Given the description of an element on the screen output the (x, y) to click on. 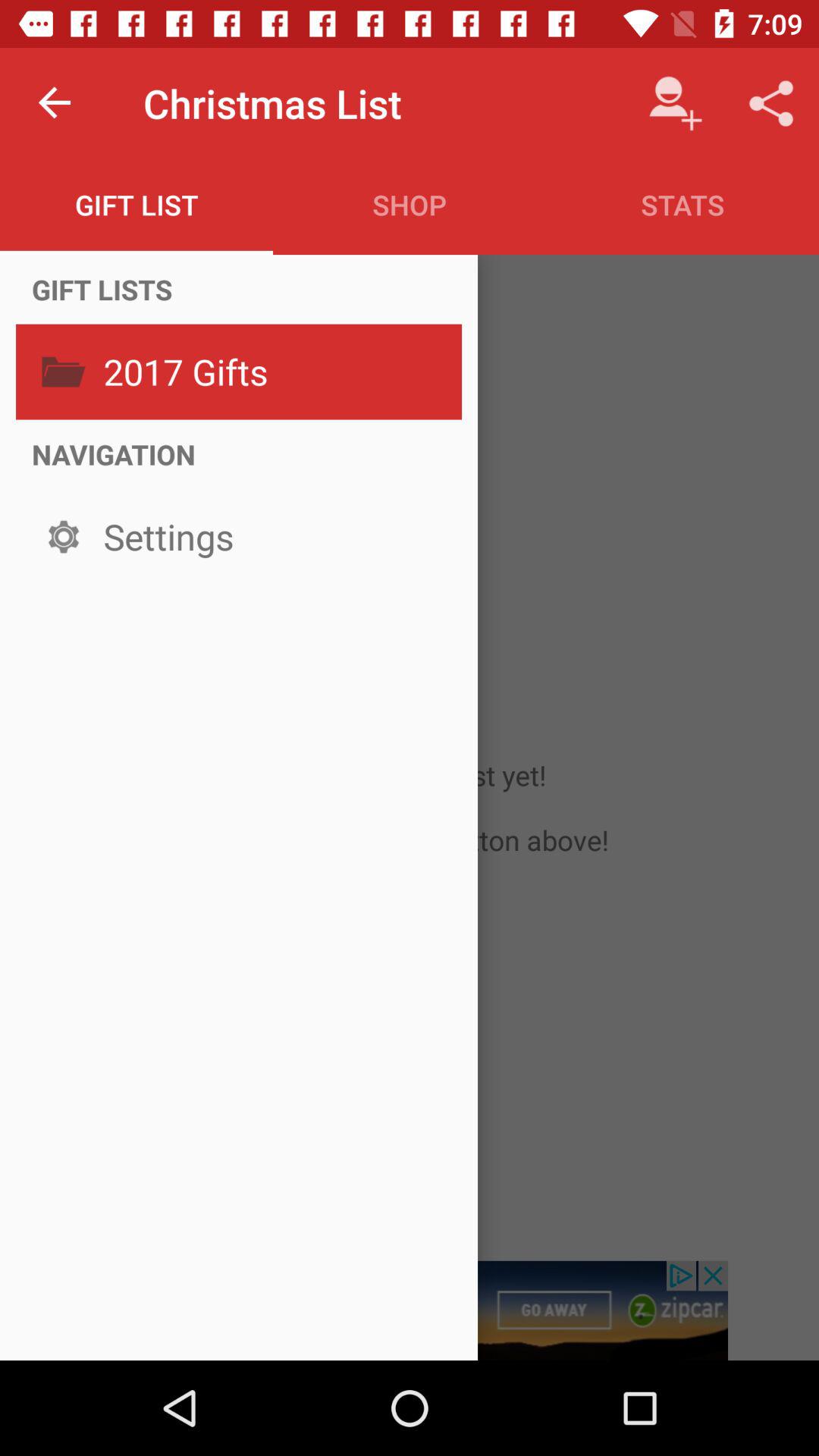
press 2017 gifts (278, 371)
